Given the description of an element on the screen output the (x, y) to click on. 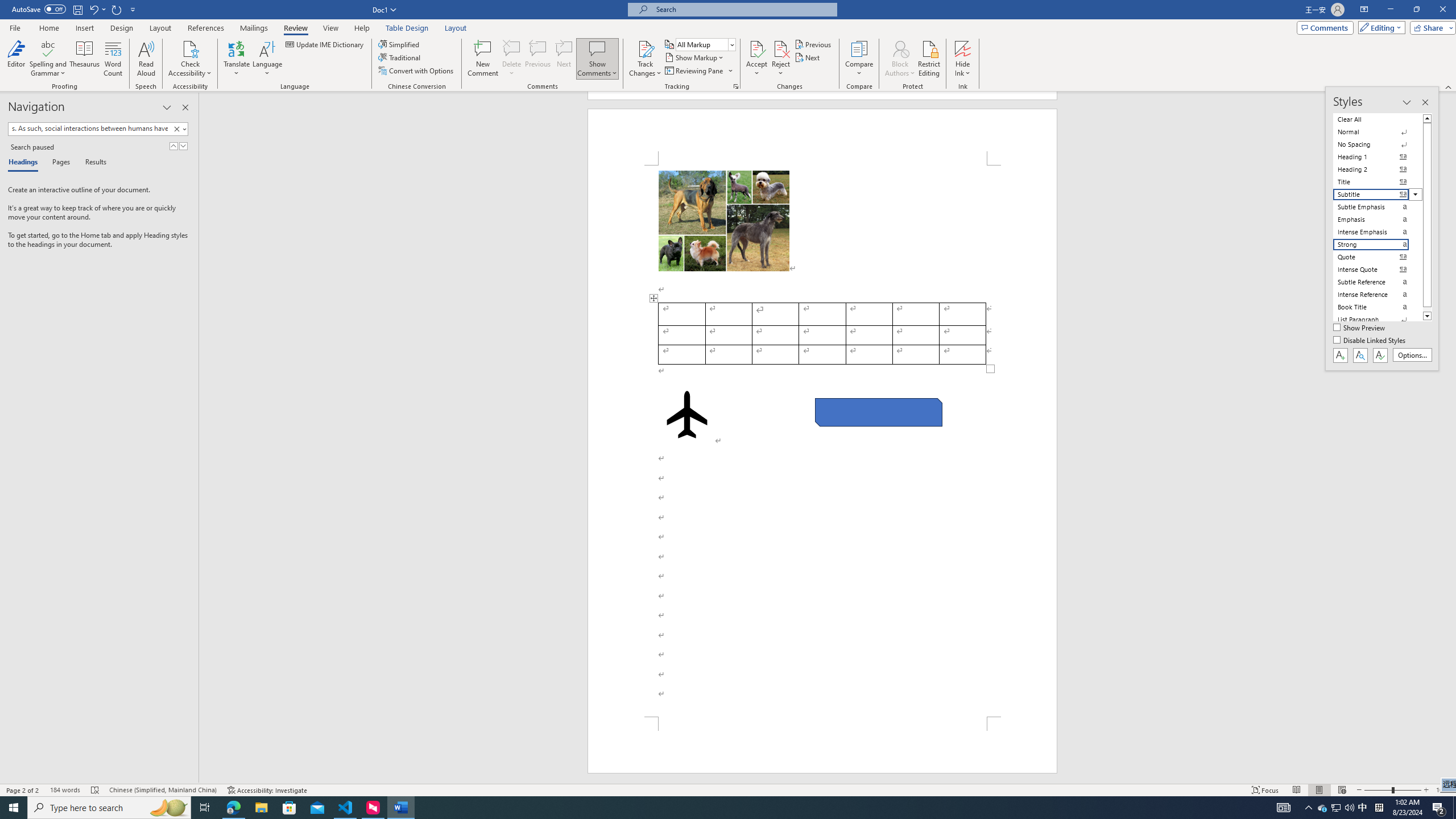
Block Authors (900, 58)
Strong (1377, 244)
Class: NetUIButton (1380, 355)
Thesaurus... (84, 58)
Repeat Style (117, 9)
Reject and Move to Next (780, 48)
Read Aloud (145, 58)
